Given the description of an element on the screen output the (x, y) to click on. 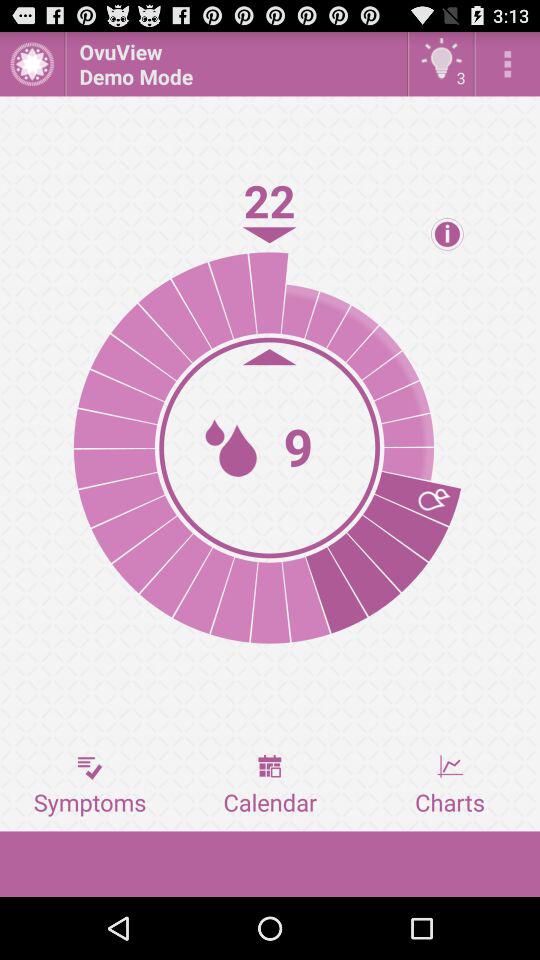
flip to the charts item (450, 785)
